Given the description of an element on the screen output the (x, y) to click on. 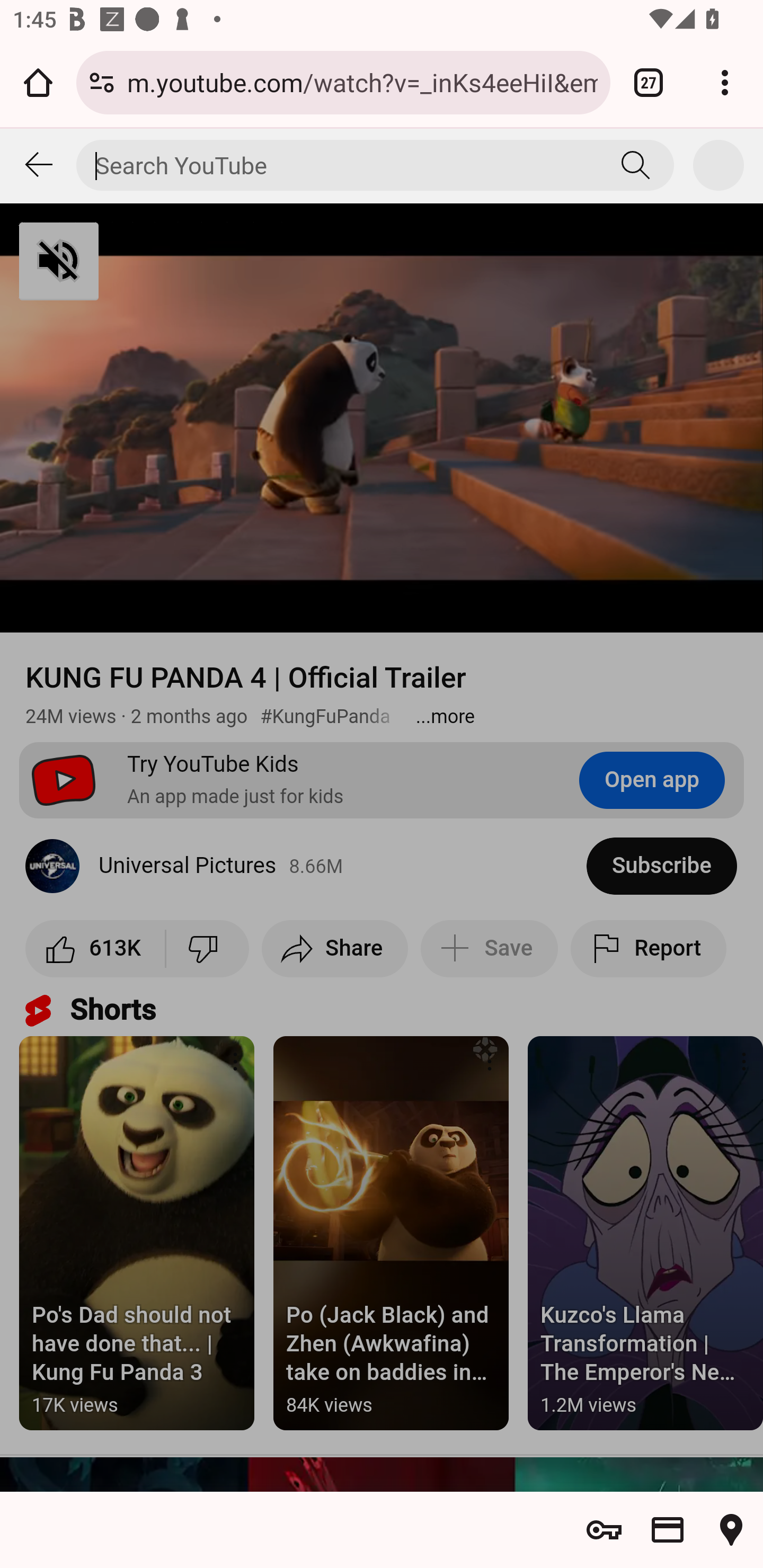
Open the home page (38, 82)
Connection is secure (101, 82)
Switch or close tabs (648, 82)
Customize and control Google Chrome (724, 82)
Close search (38, 165)
Search YouTube (635, 165)
TAP TO UNMUTE (152, 261)
Show saved passwords and password options (603, 1530)
Show saved payment methods (667, 1530)
Show saved addresses (731, 1530)
